Given the description of an element on the screen output the (x, y) to click on. 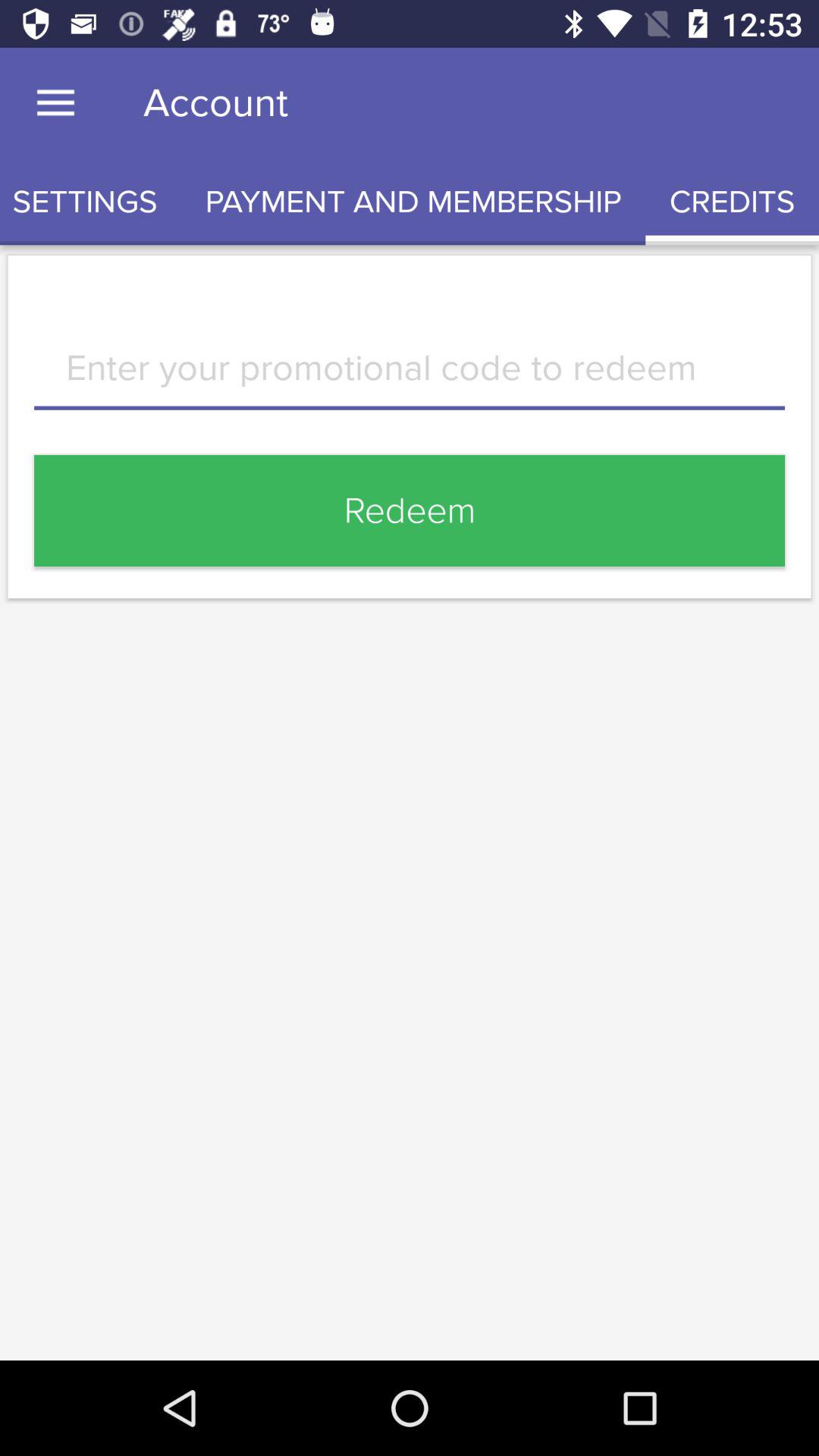
text area to enter promotional code (409, 379)
